Given the description of an element on the screen output the (x, y) to click on. 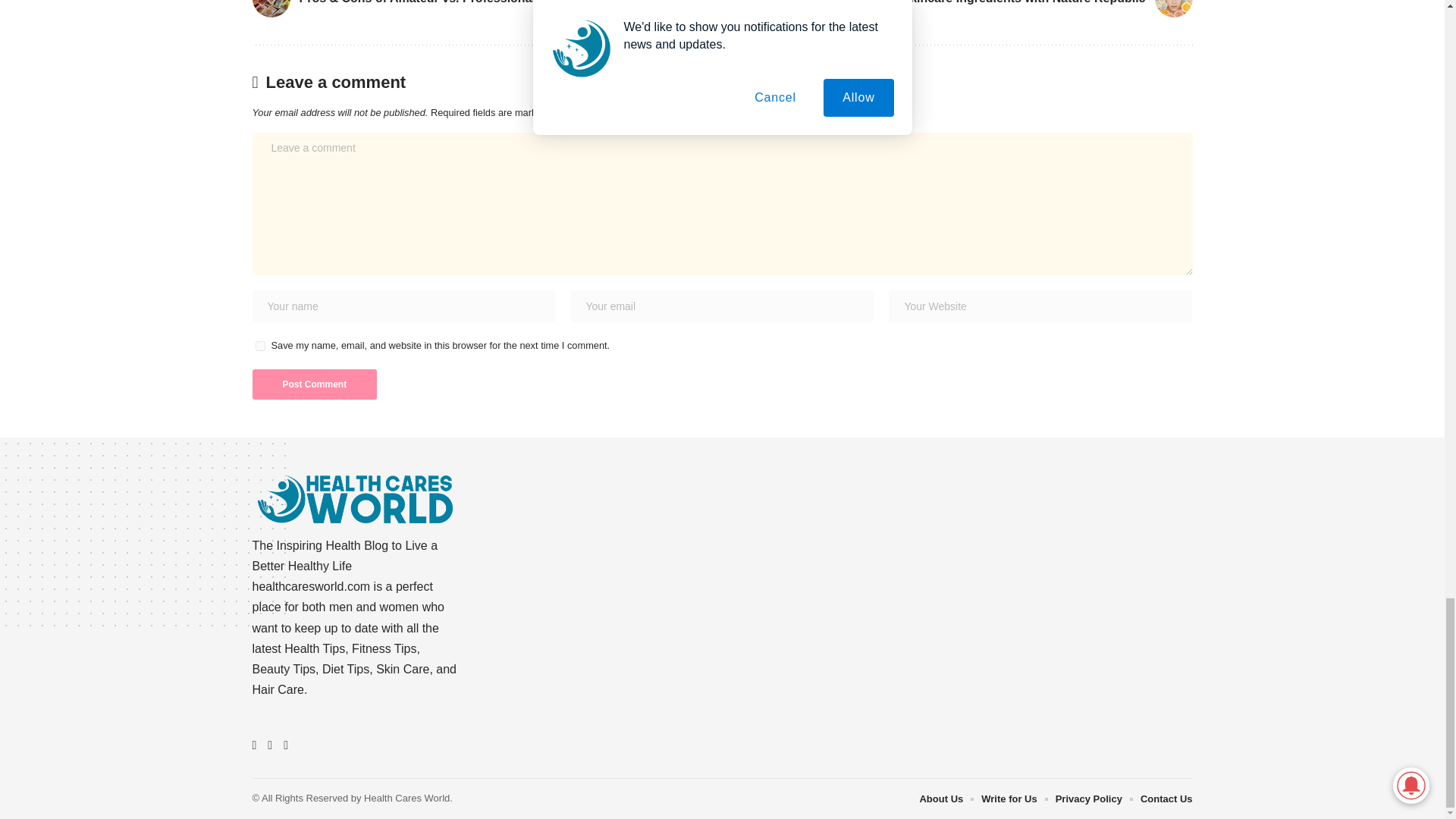
yes (259, 346)
Post Comment (314, 384)
